Given the description of an element on the screen output the (x, y) to click on. 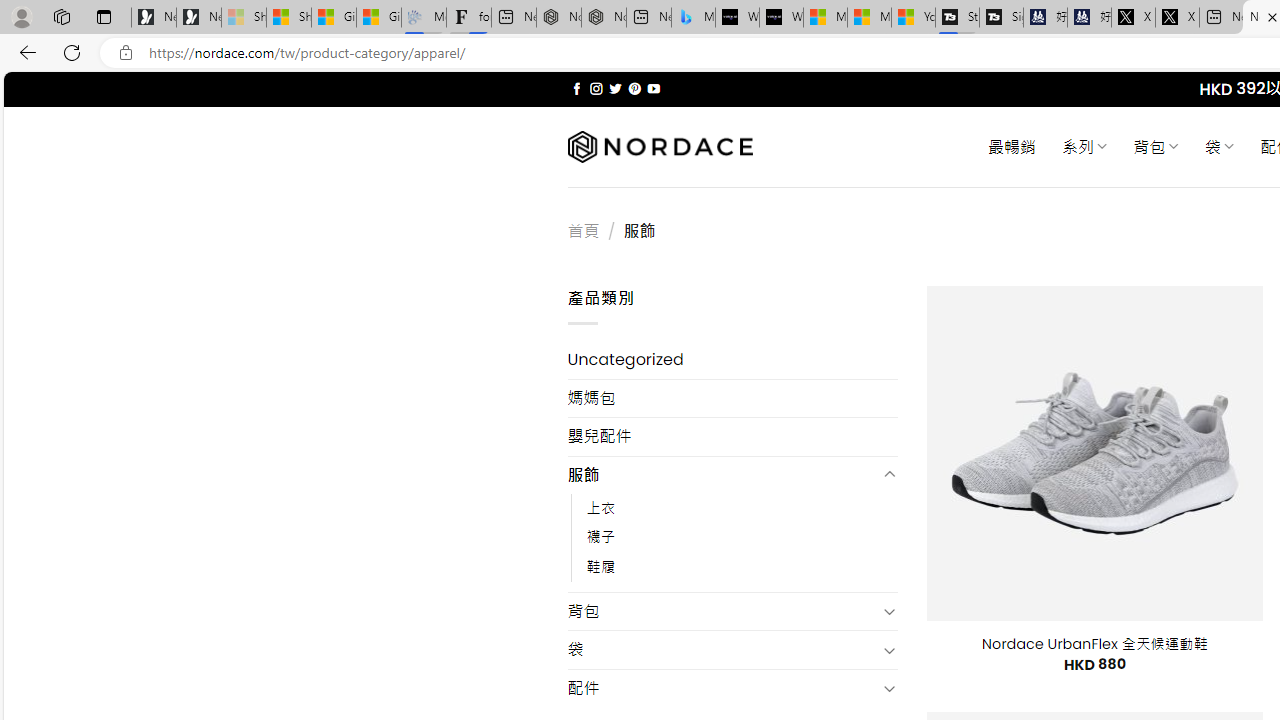
Follow on Pinterest (634, 88)
Newsletter Sign Up (198, 17)
Uncategorized (732, 359)
Follow on Twitter (615, 88)
